Given the description of an element on the screen output the (x, y) to click on. 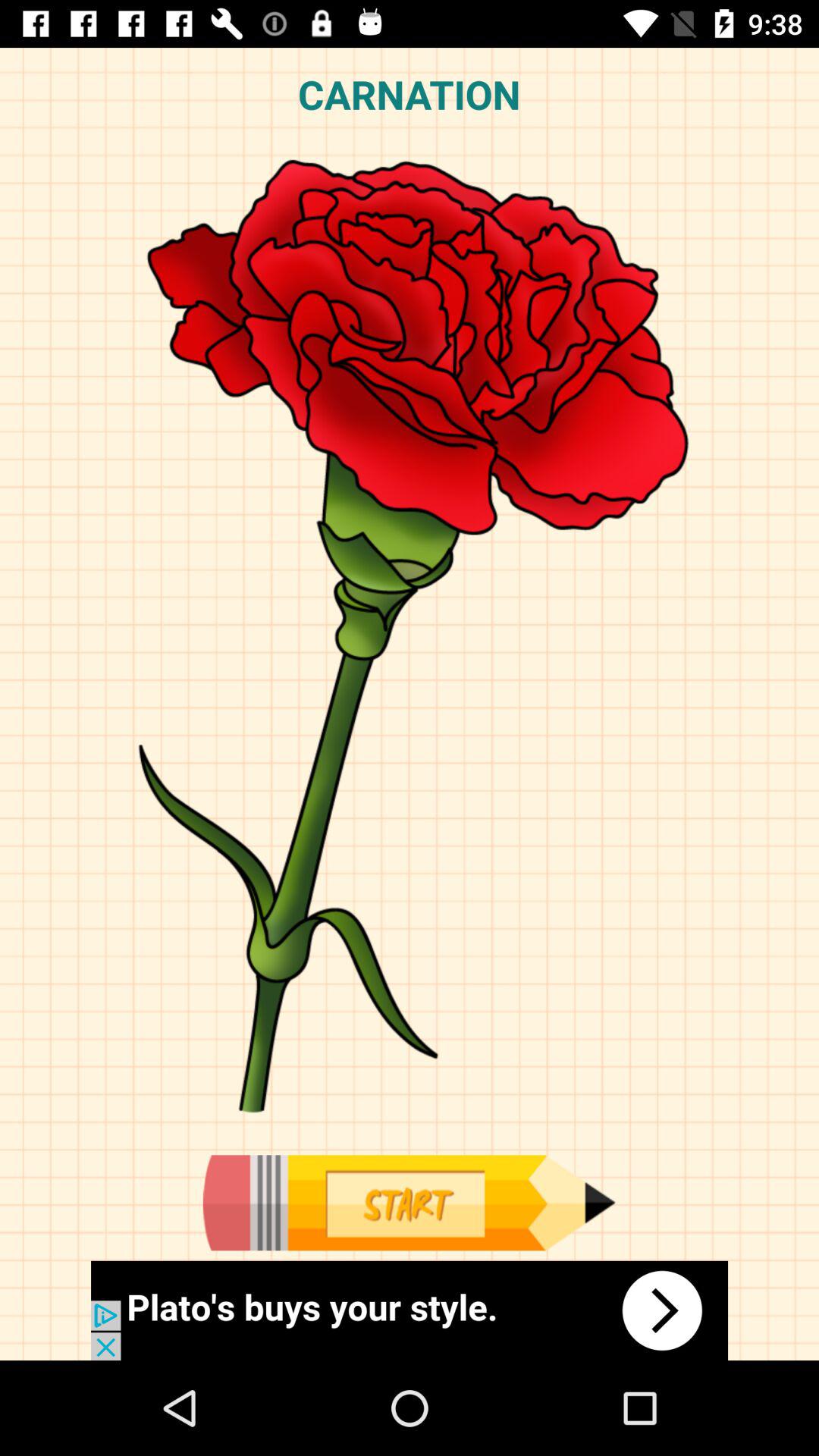
go to advertisement (409, 1310)
